Given the description of an element on the screen output the (x, y) to click on. 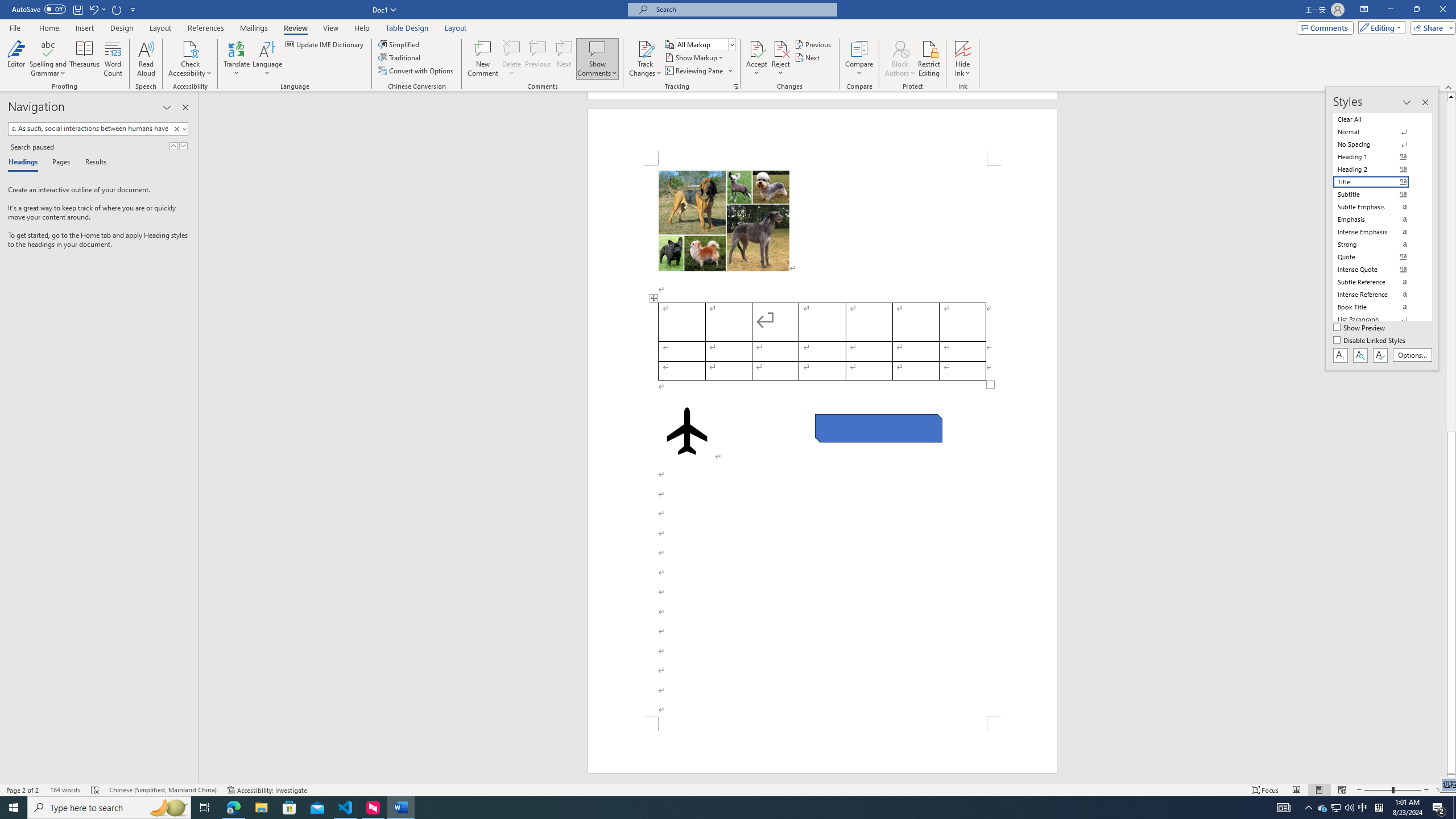
Line up (1450, 96)
Traditional (400, 56)
Show Comments (597, 58)
Layout (455, 28)
Heading 2 (1377, 169)
Class: NetUIButton (1380, 355)
